Given the description of an element on the screen output the (x, y) to click on. 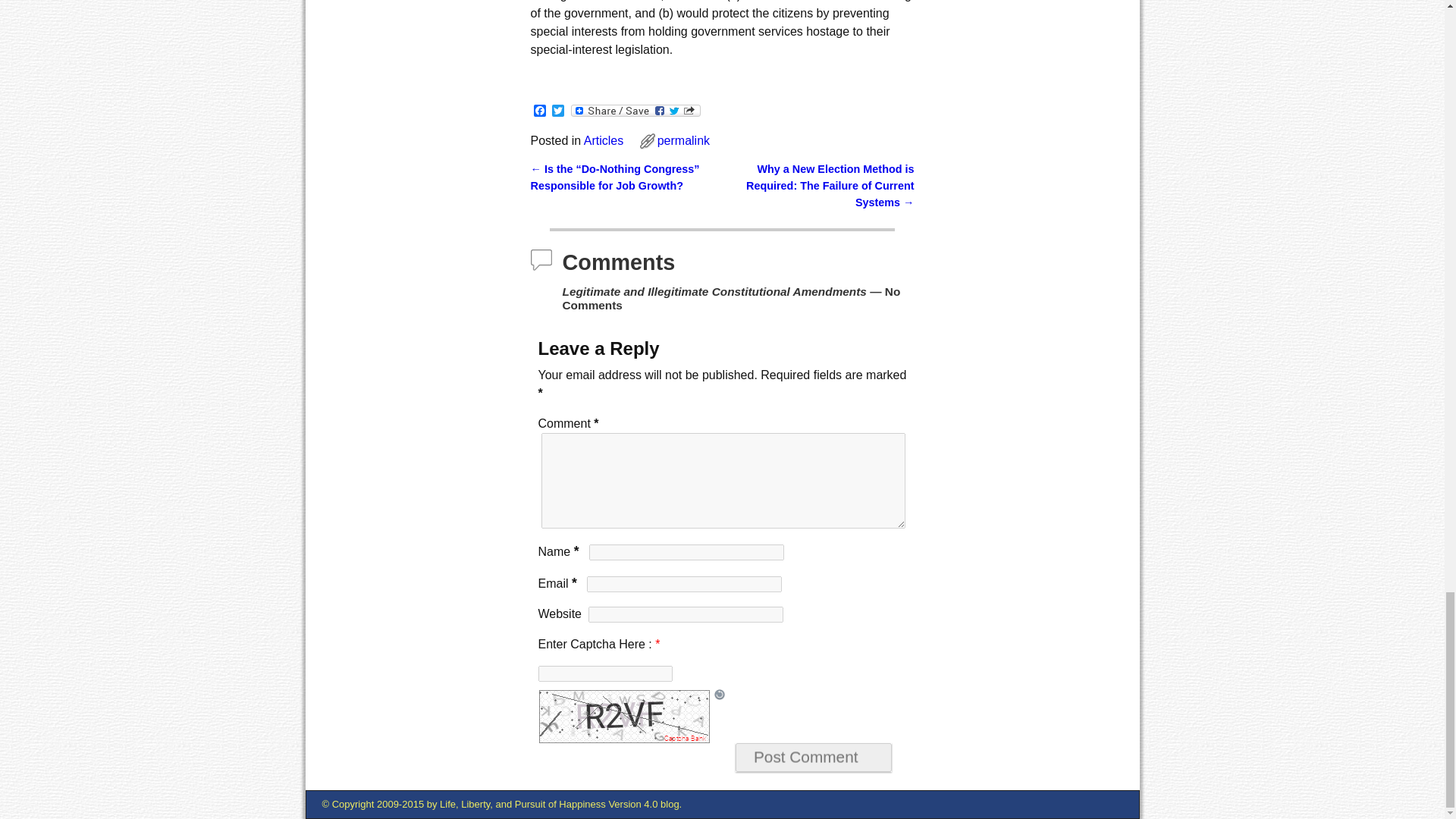
Facebook (539, 111)
Post Comment (813, 757)
Facebook (539, 111)
Twitter (557, 111)
Articles (603, 140)
Twitter (557, 111)
permalink (684, 140)
Post Comment (813, 757)
